Given the description of an element on the screen output the (x, y) to click on. 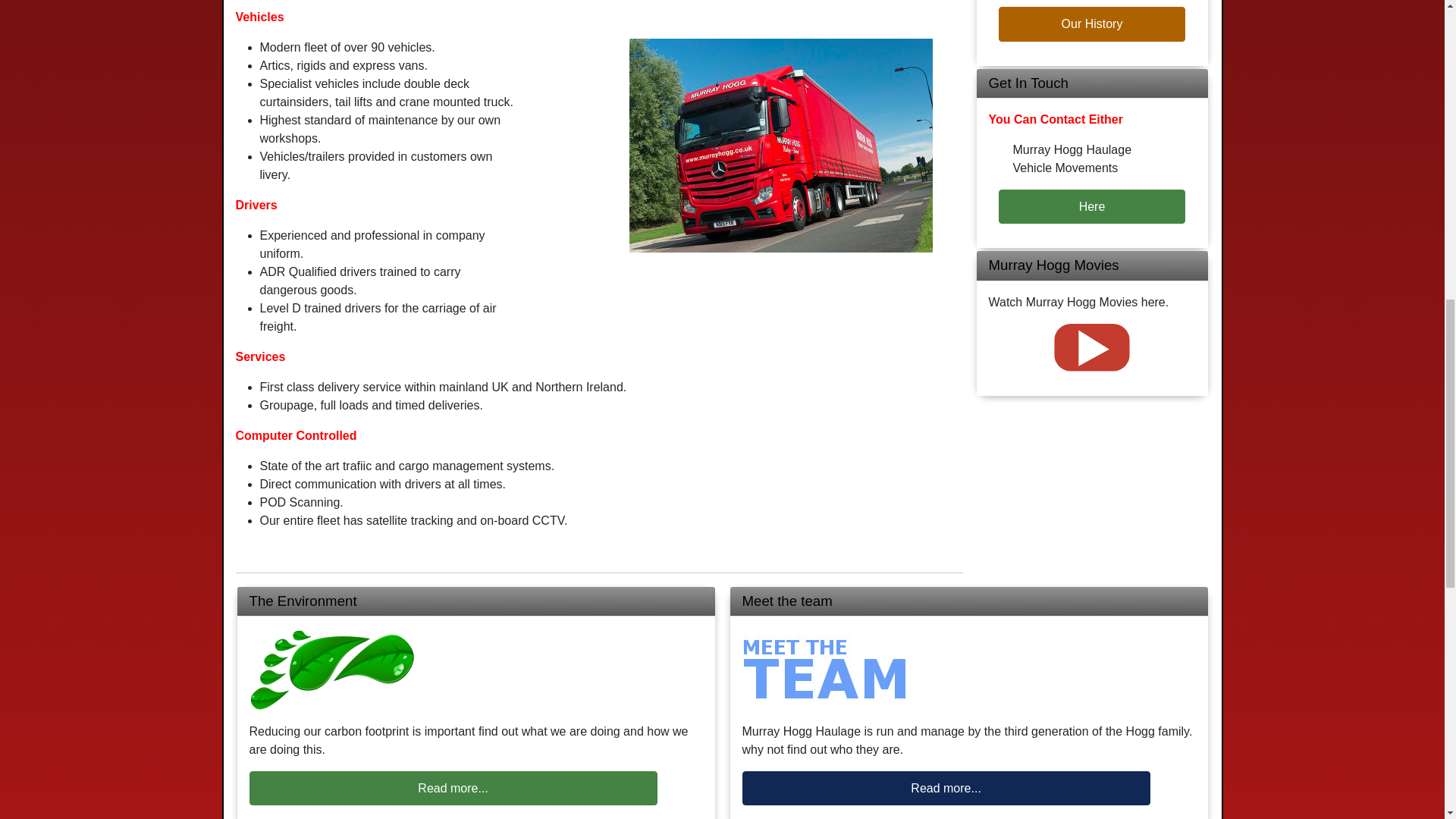
Read more... (452, 788)
Our History (1091, 23)
Here (1091, 206)
